Given the description of an element on the screen output the (x, y) to click on. 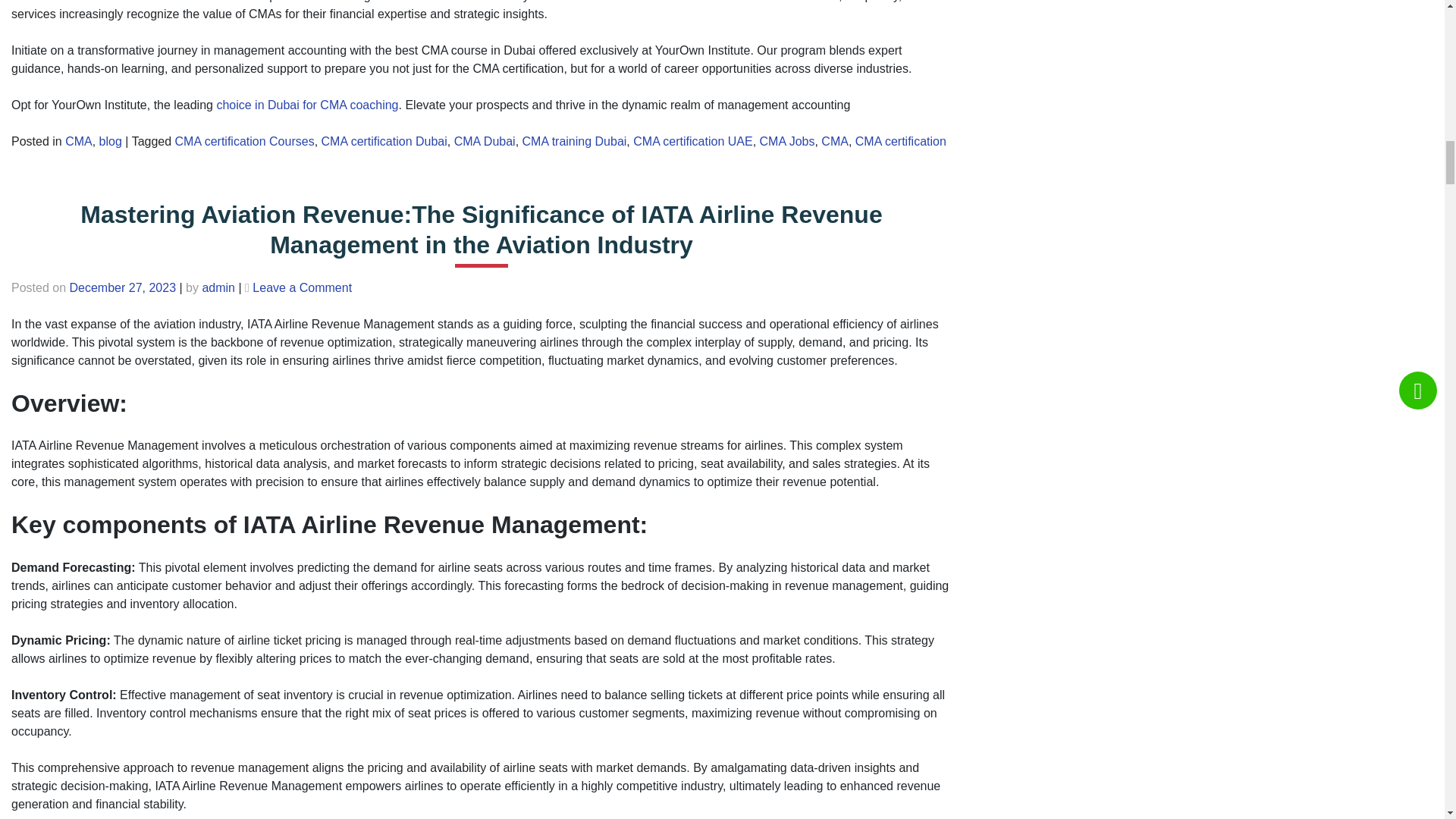
choice in Dubai for CMA coaching (306, 104)
